Given the description of an element on the screen output the (x, y) to click on. 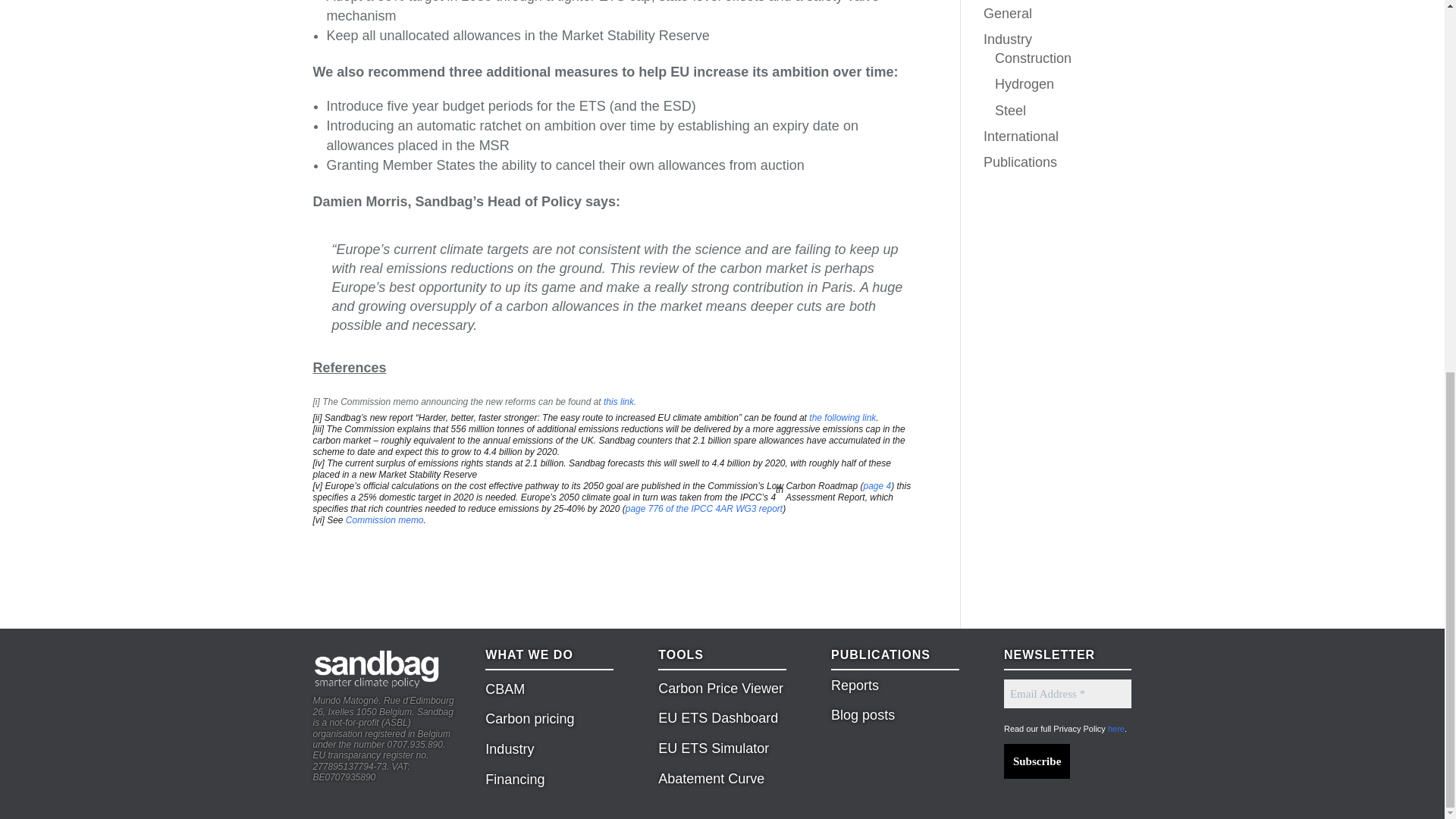
Email Address (1067, 694)
sandbag-footer-alice (376, 669)
Subscribe (1037, 761)
